Given the description of an element on the screen output the (x, y) to click on. 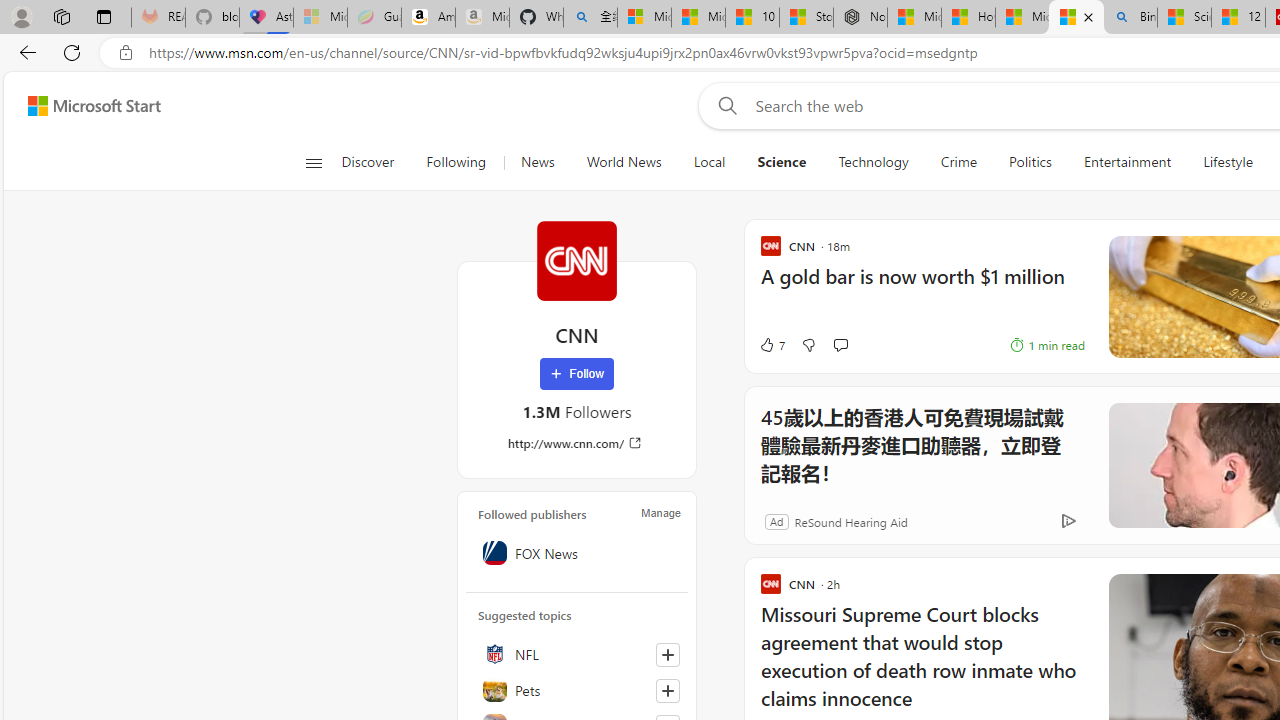
7 Like (749, 344)
Follow this topic (667, 690)
Pets (577, 690)
CNN (576, 260)
Class: button-glyph (313, 162)
Follow (577, 373)
